Given the description of an element on the screen output the (x, y) to click on. 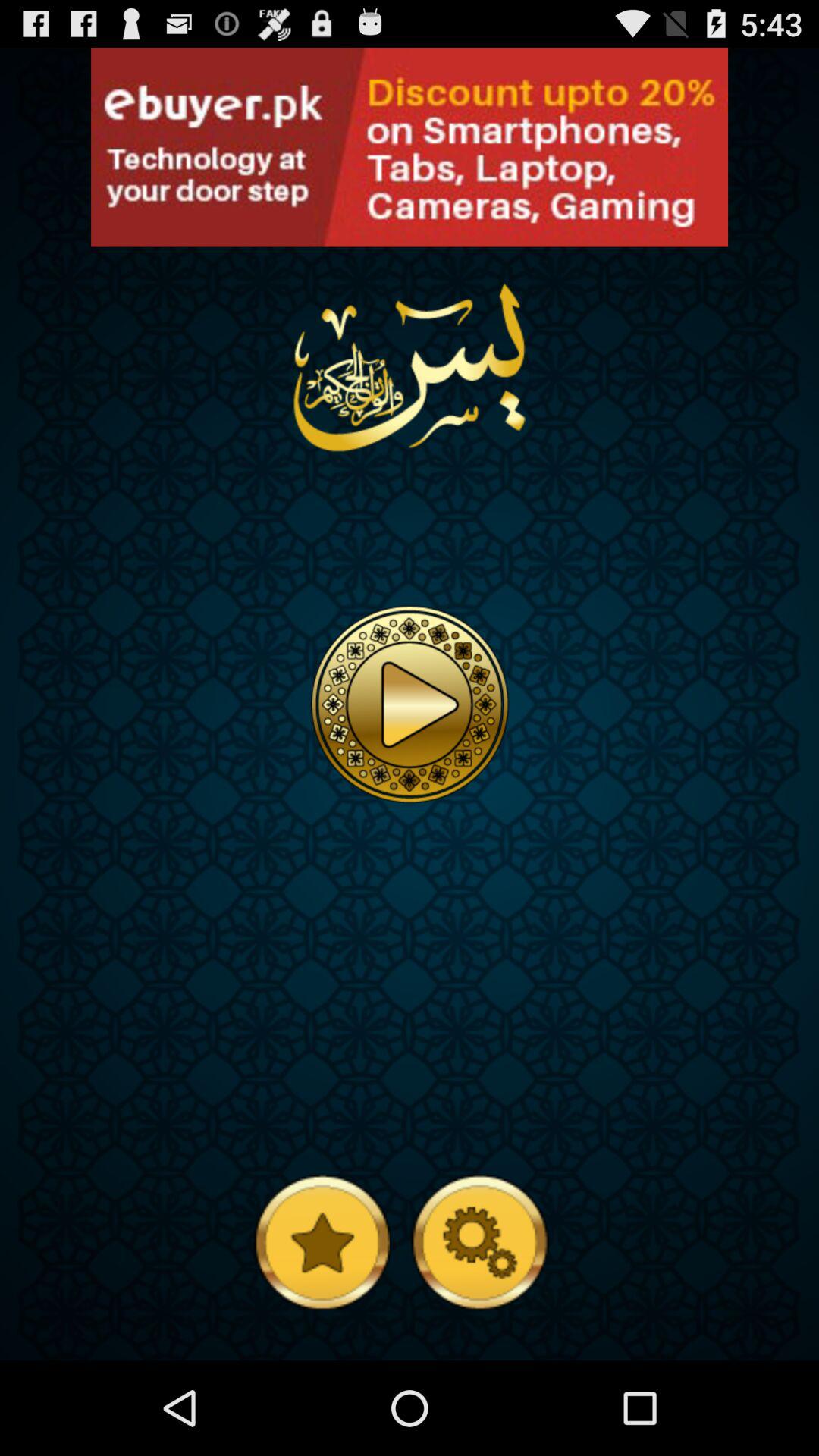
setting (478, 1240)
